Given the description of an element on the screen output the (x, y) to click on. 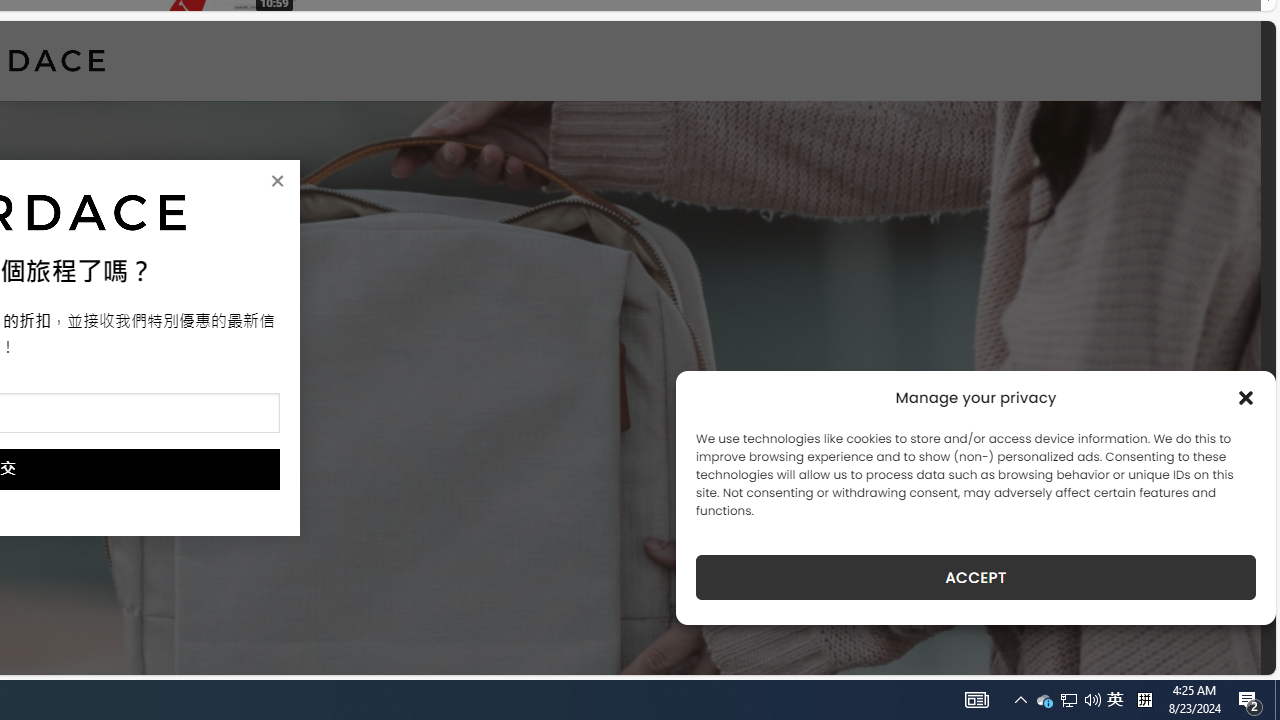
ACCEPT (975, 577)
Class: cmplz-close (1245, 398)
